Given the description of an element on the screen output the (x, y) to click on. 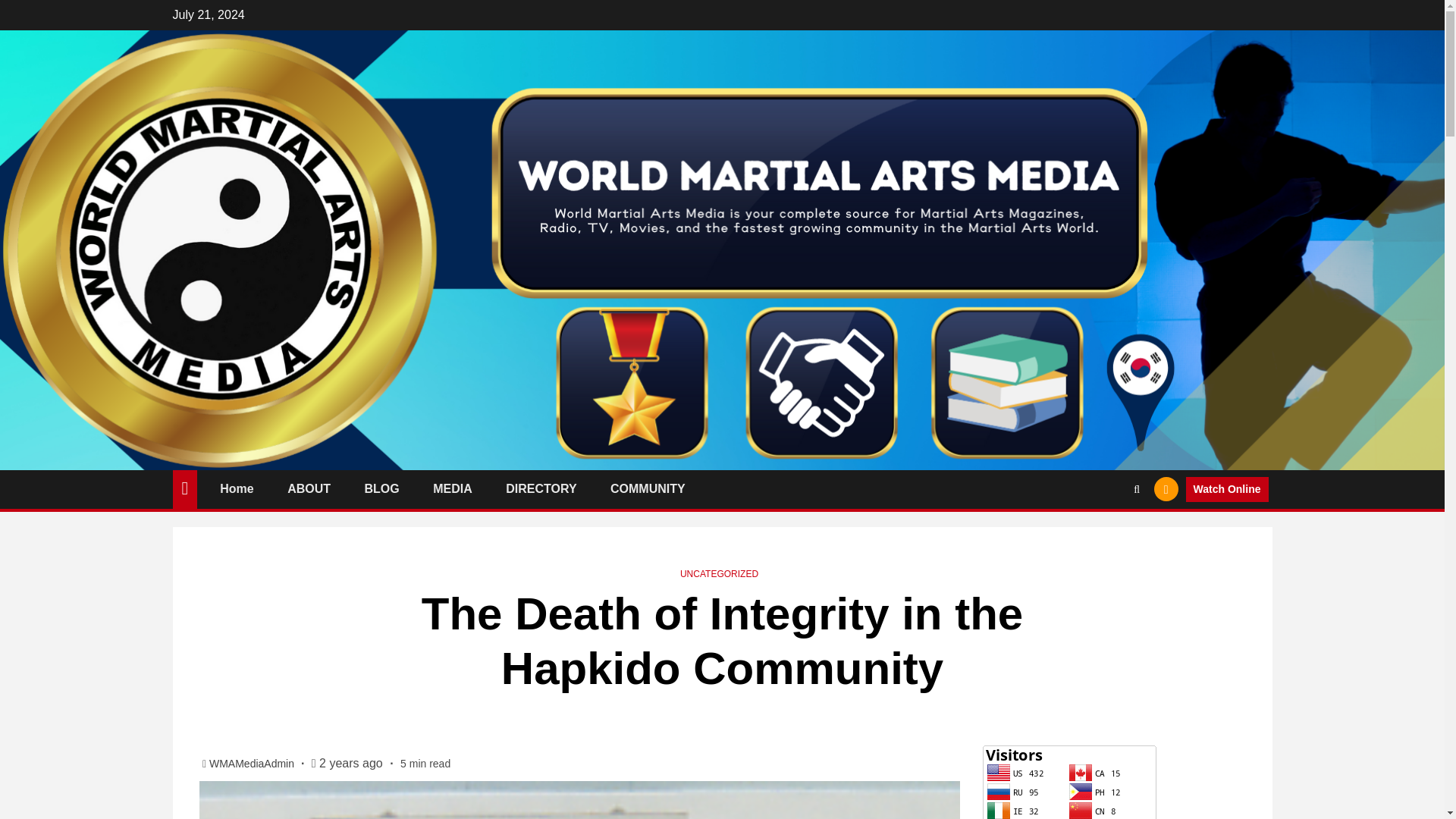
Watch Online (1227, 489)
Home (236, 488)
COMMUNITY (647, 488)
WMAMediaAdmin (253, 763)
DIRECTORY (540, 488)
BLOG (381, 488)
MEDIA (451, 488)
ABOUT (308, 488)
Search (1106, 534)
UNCATEGORIZED (718, 573)
